Given the description of an element on the screen output the (x, y) to click on. 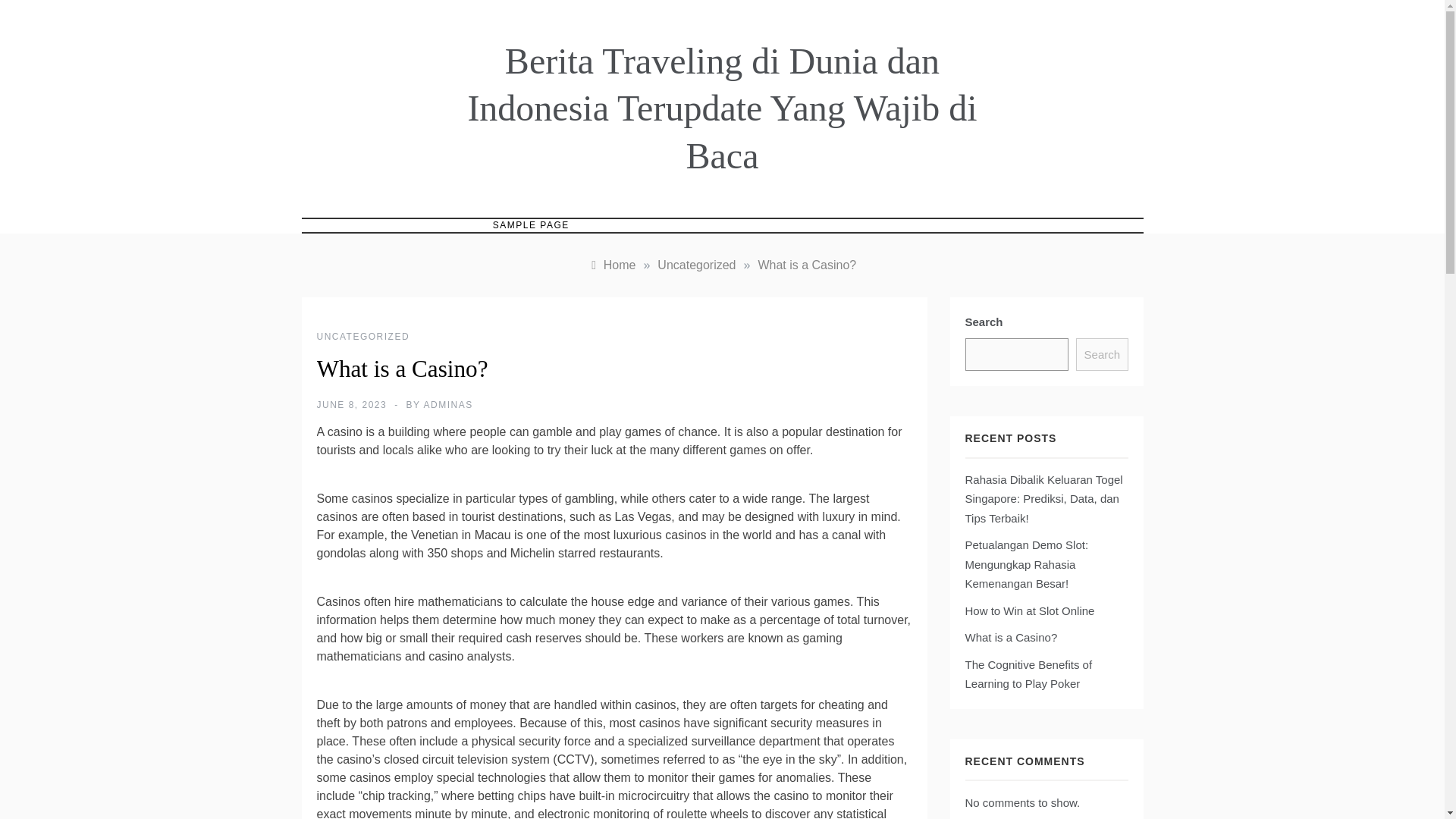
How to Win at Slot Online (1028, 609)
What is a Casino? (806, 264)
SAMPLE PAGE (531, 225)
JUNE 8, 2023 (352, 404)
The Cognitive Benefits of Learning to Play Poker (1027, 674)
Uncategorized (696, 264)
Petualangan Demo Slot: Mengungkap Rahasia Kemenangan Besar! (1025, 563)
UNCATEGORIZED (363, 336)
Home (612, 264)
Search (1100, 354)
What is a Casino? (1010, 636)
ADMINAS (448, 404)
